Given the description of an element on the screen output the (x, y) to click on. 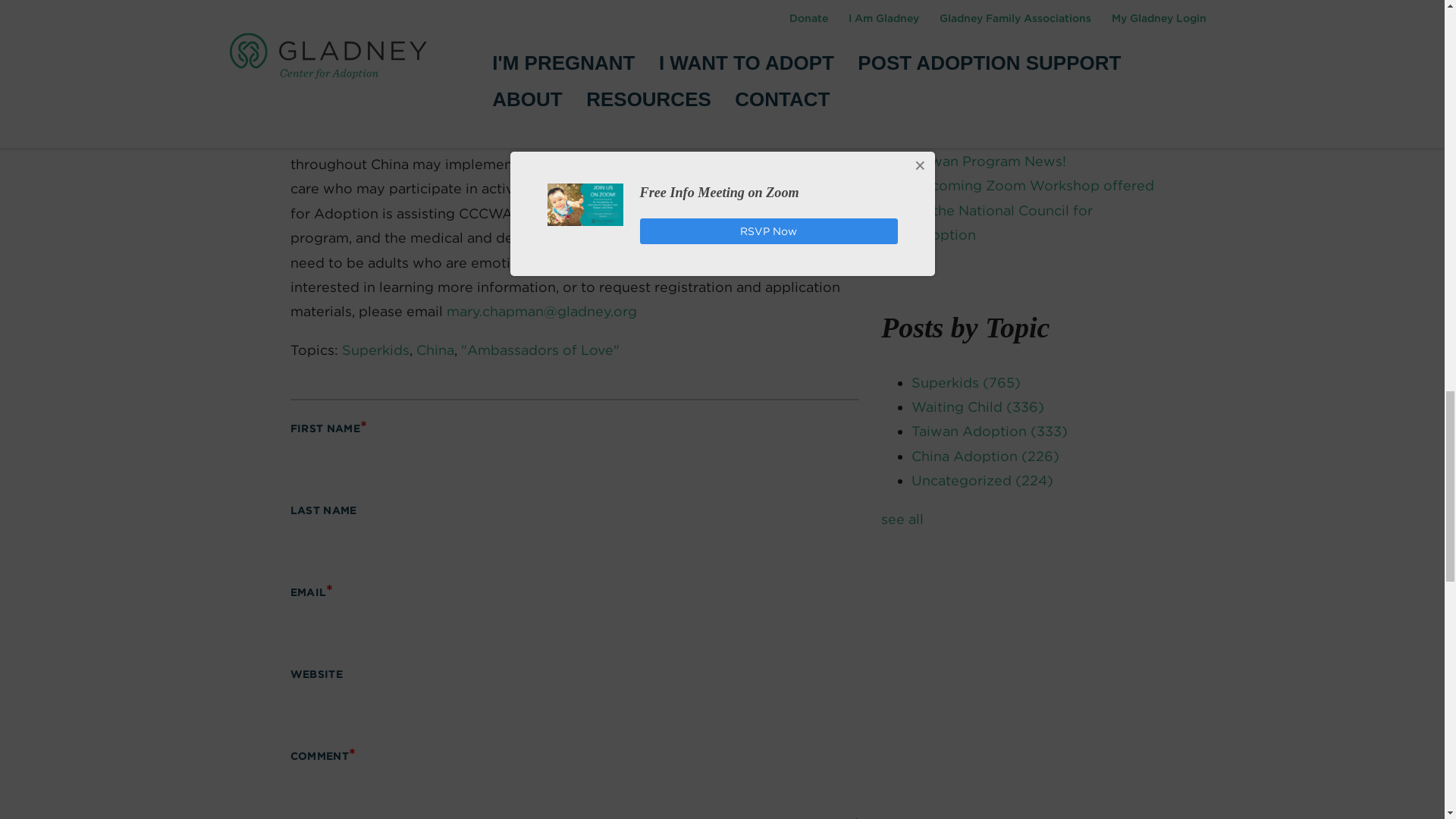
China (433, 349)
"Ambassadors of Love" (540, 349)
From Taiwan to Texas (984, 13)
Superkids (374, 349)
Embracing Summer: Balancing the Joys and Challenges (1027, 50)
